Given the description of an element on the screen output the (x, y) to click on. 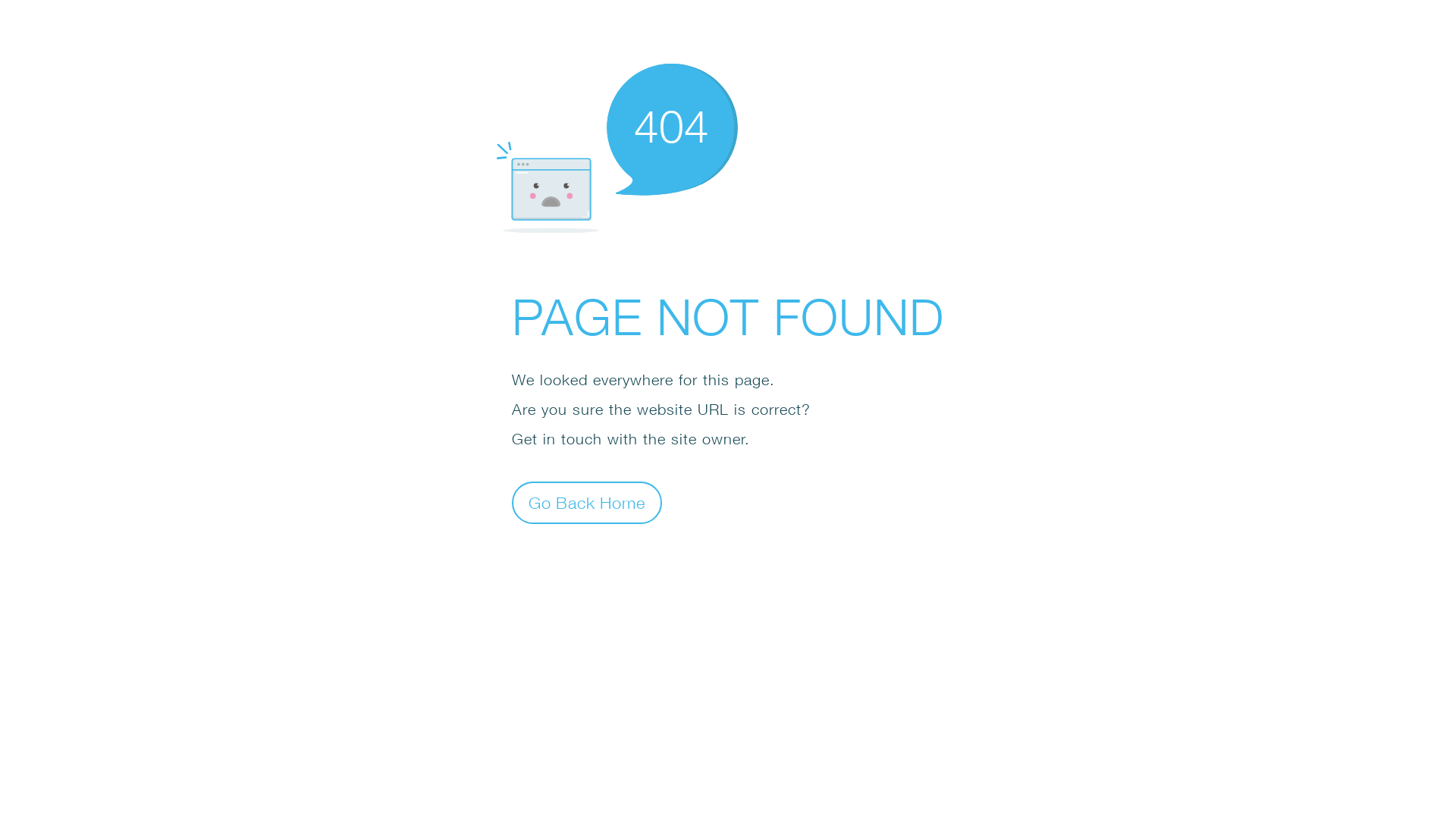
Go Back Home Element type: text (586, 502)
